Given the description of an element on the screen output the (x, y) to click on. 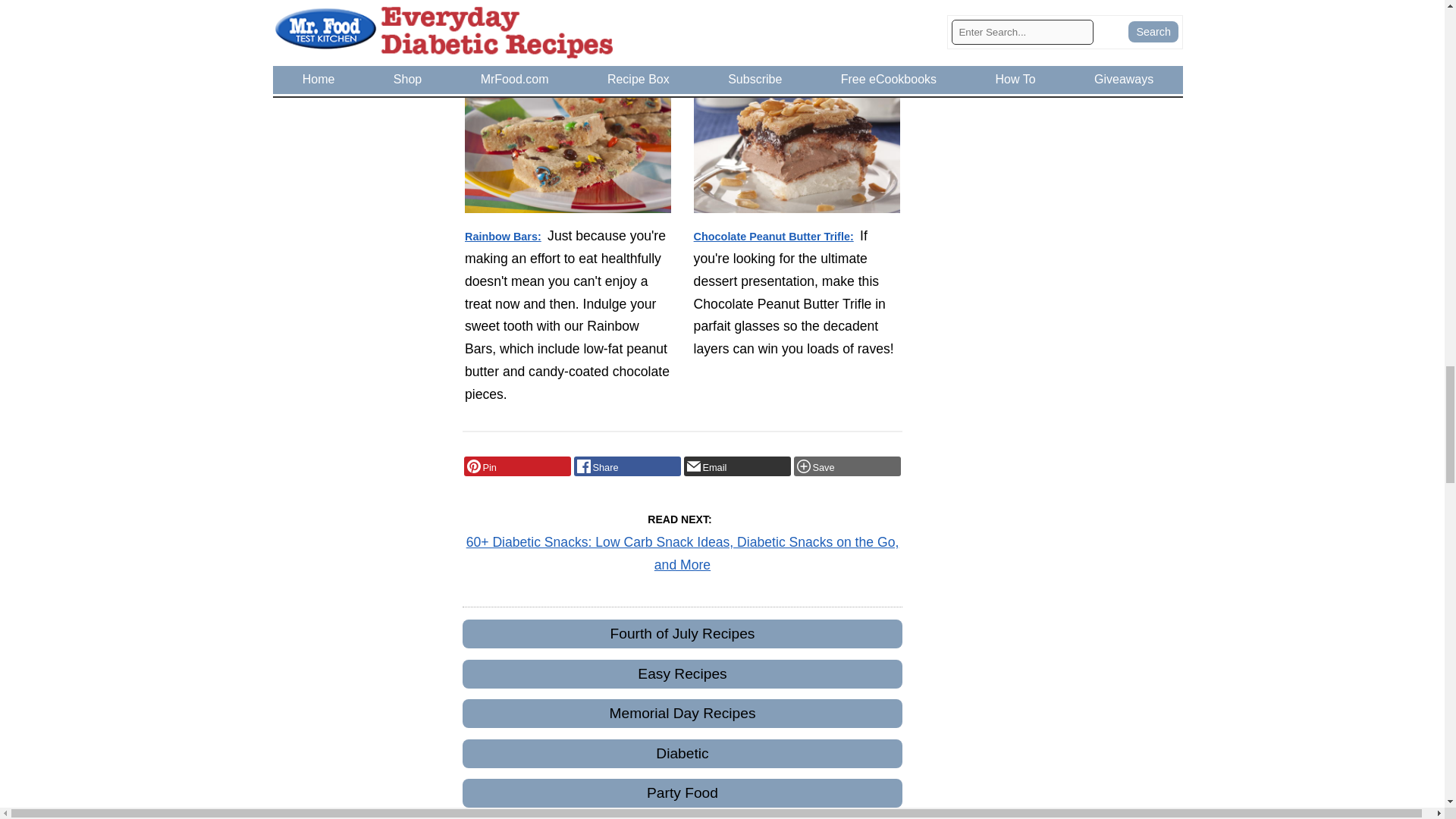
Rainbow Bars (568, 147)
